Given the description of an element on the screen output the (x, y) to click on. 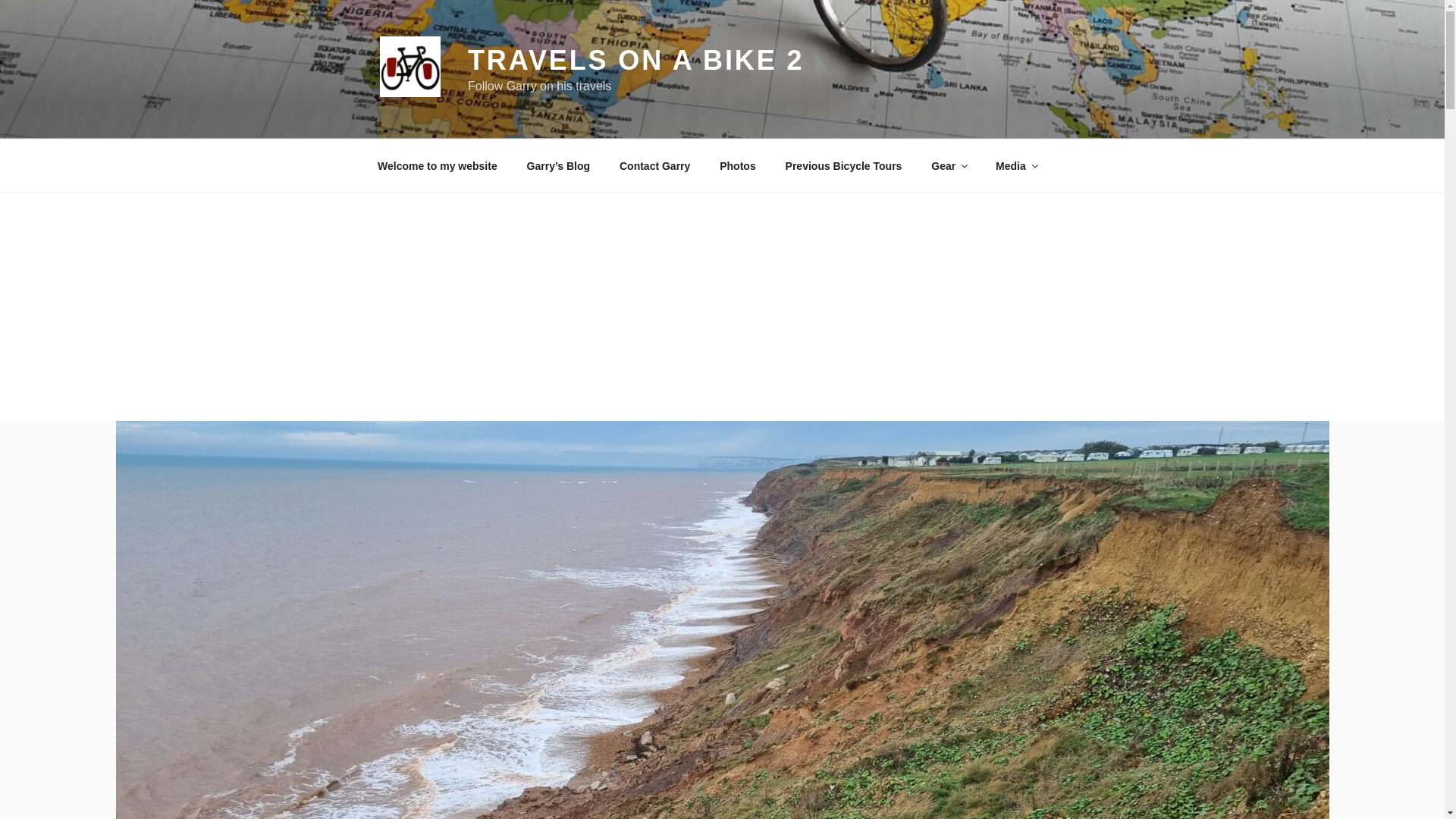
Photos (737, 165)
Contact Garry (654, 165)
Previous Bicycle Tours (843, 165)
TRAVELS ON A BIKE 2 (635, 60)
Media (1015, 165)
Gear (948, 165)
Welcome to my website (437, 165)
